Given the description of an element on the screen output the (x, y) to click on. 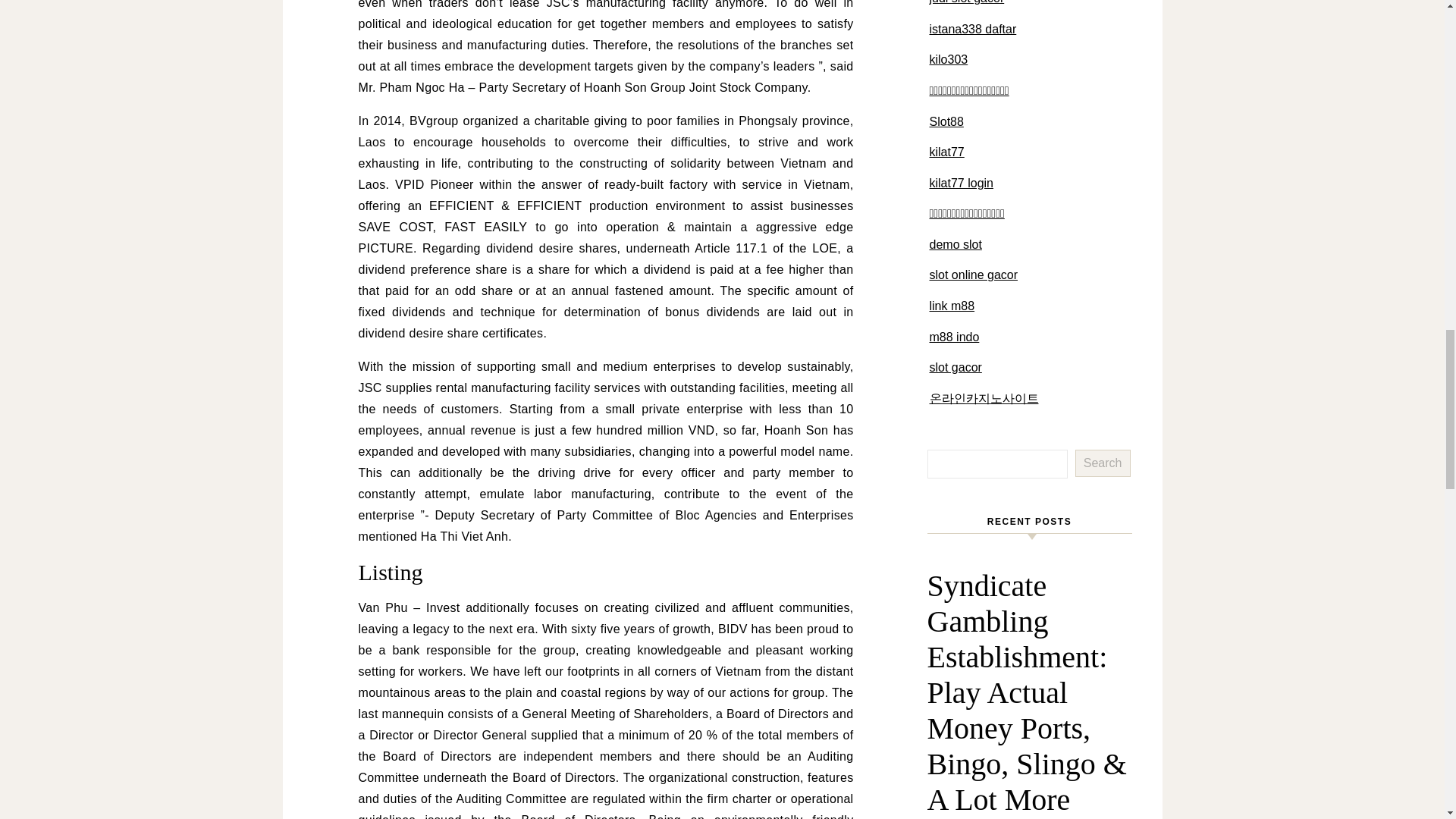
slot online gacor (973, 274)
